Given the description of an element on the screen output the (x, y) to click on. 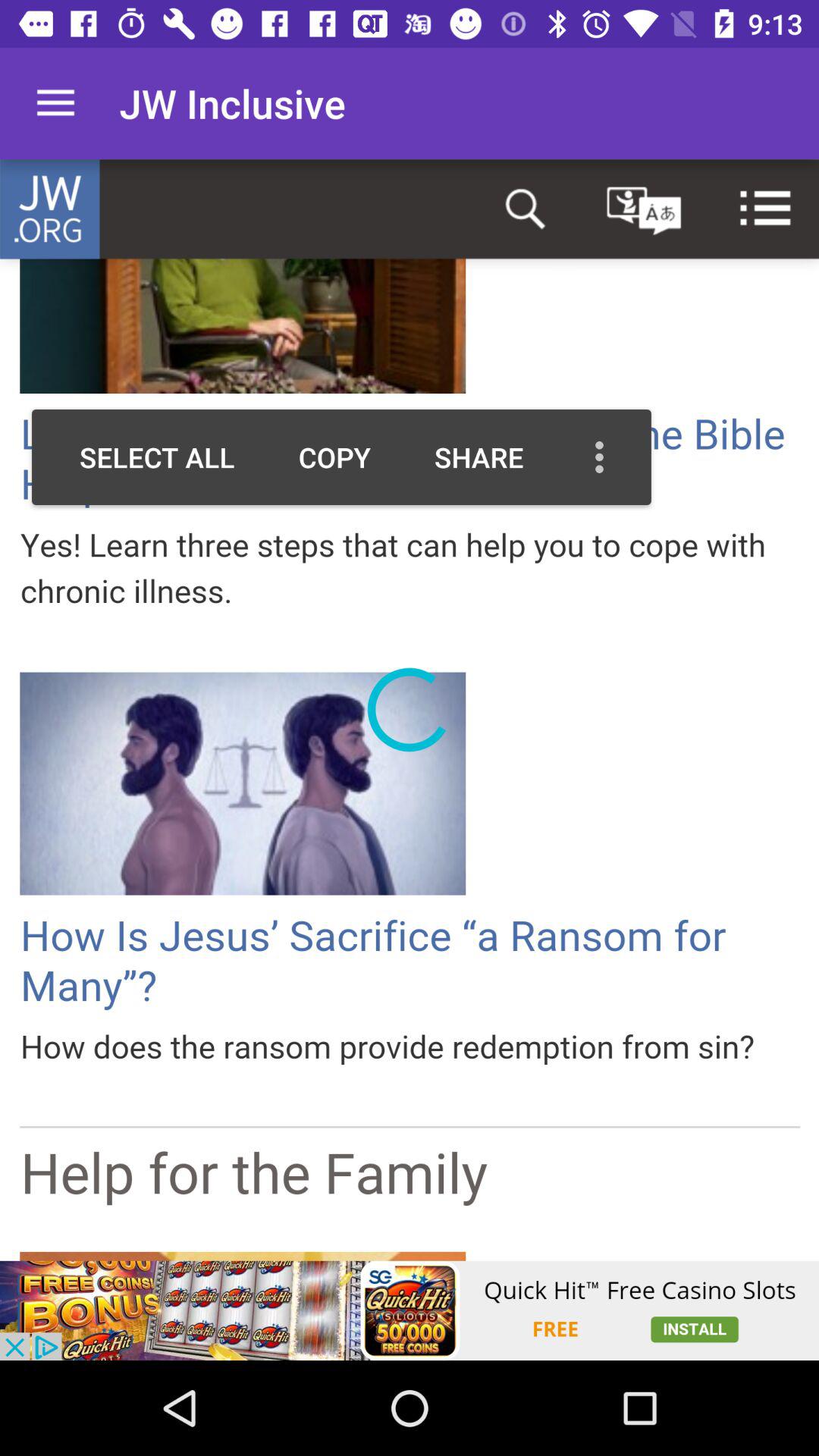
redirects you to offer page (409, 1310)
